Given the description of an element on the screen output the (x, y) to click on. 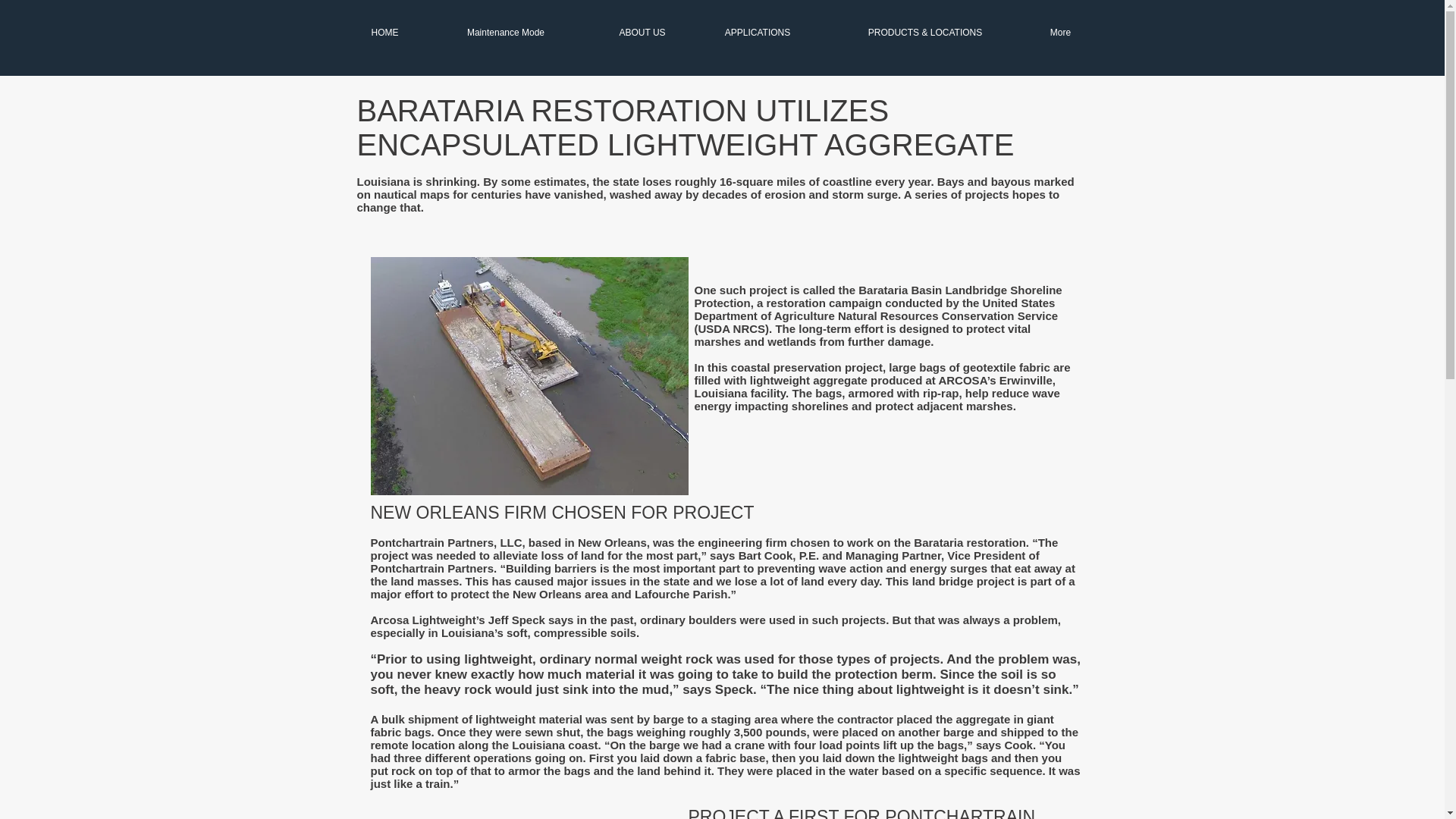
ABOUT US (642, 32)
Maintenance Mode (505, 32)
APPLICATIONS (756, 32)
HOME (384, 32)
